Given the description of an element on the screen output the (x, y) to click on. 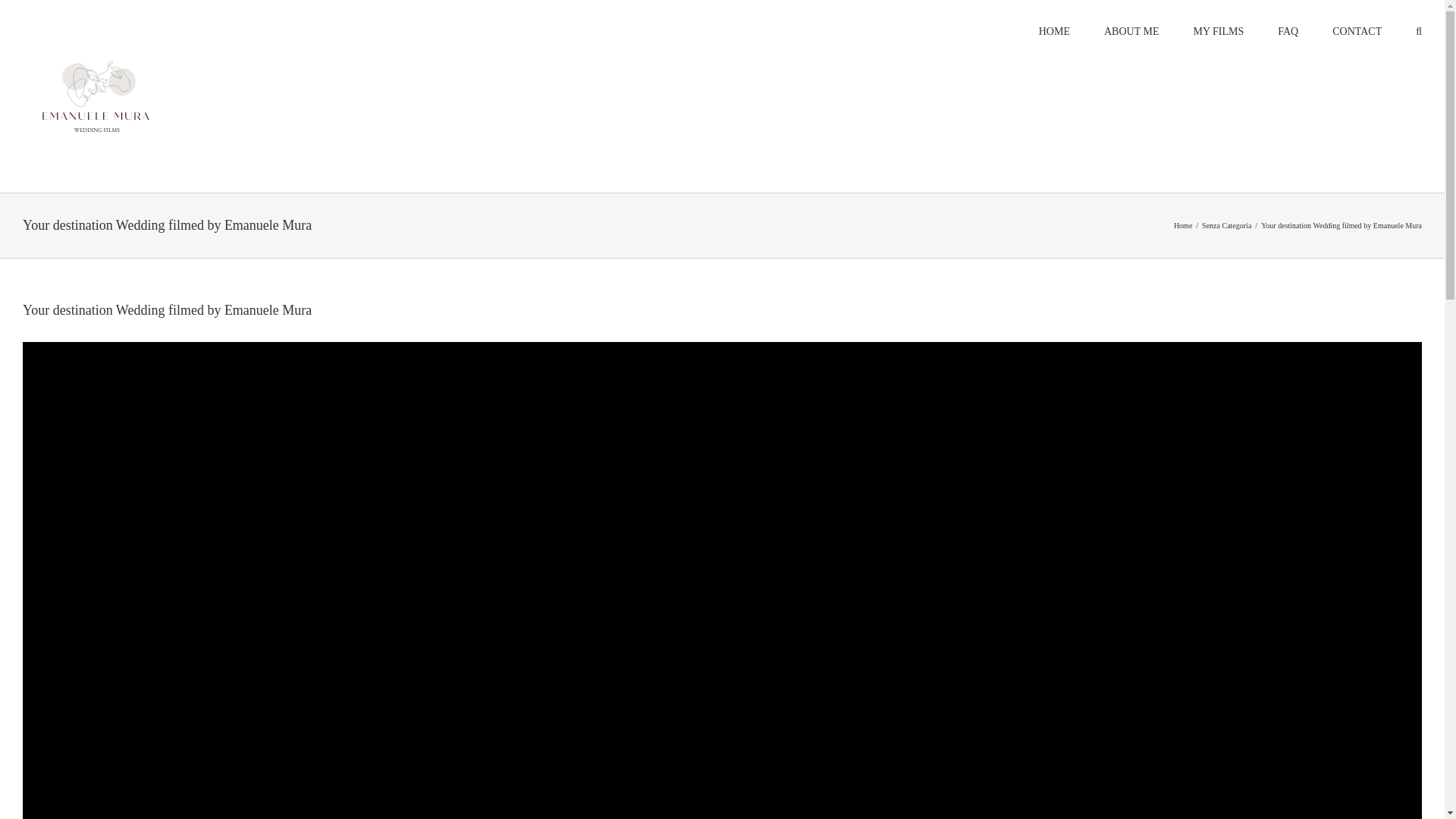
Senza Categoria (1226, 225)
Home (1182, 225)
